Given the description of an element on the screen output the (x, y) to click on. 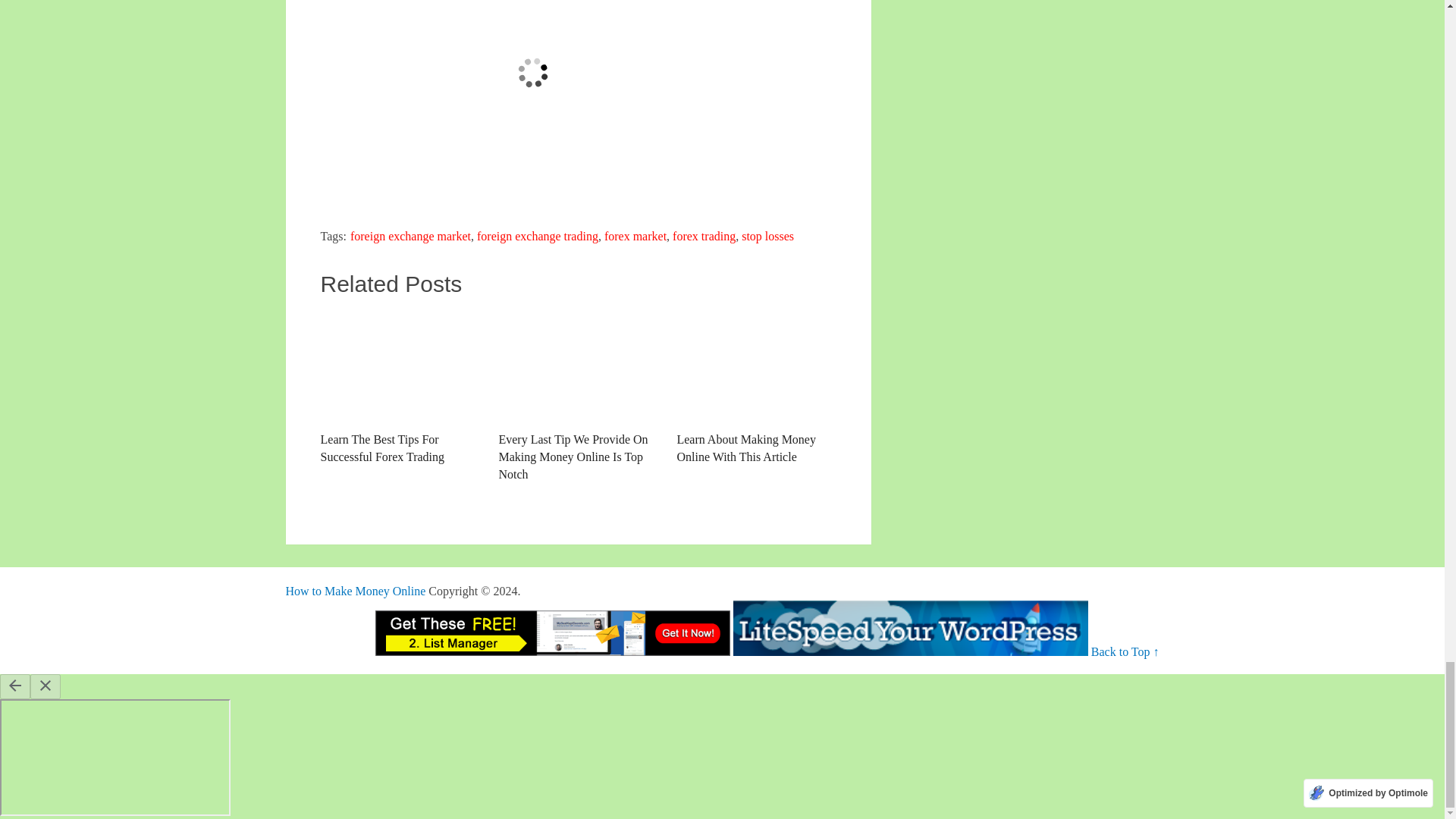
Learn About Making Money Online With This Article (756, 387)
forex trading (703, 236)
How to Make Money Online (355, 590)
foreign exchange trading (537, 236)
stop losses (767, 236)
foreign exchange market (410, 236)
forex market (635, 236)
Learn The Best Tips For Successful Forex Trading (399, 387)
